Given the description of an element on the screen output the (x, y) to click on. 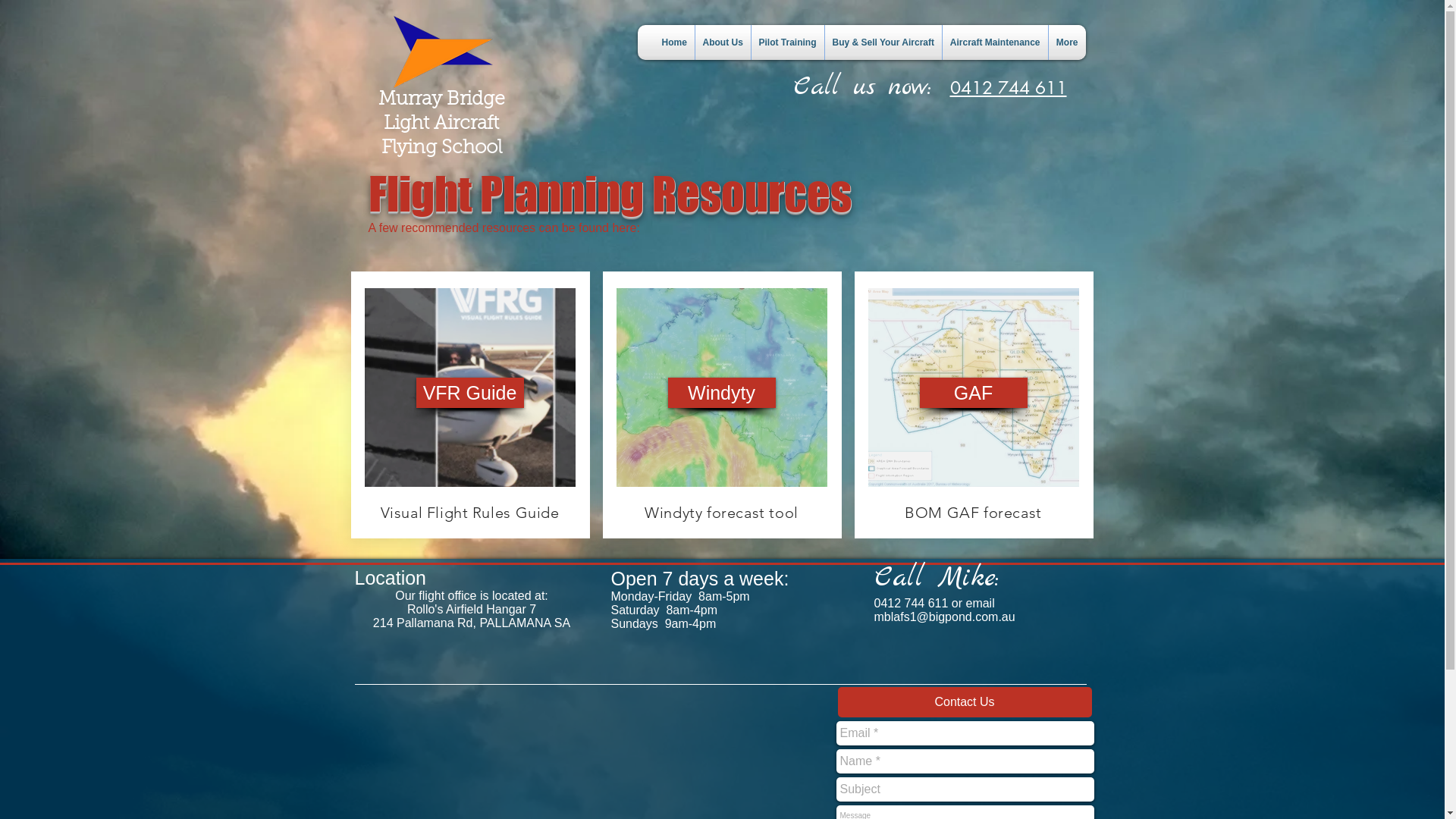
mblafs1@bigpond.com.au Element type: text (943, 616)
VFR Guide Element type: text (469, 392)
Windyty Element type: text (721, 392)
Aircraft Maintenance Element type: text (994, 42)
About Us Element type: text (721, 42)
GAF Element type: text (972, 392)
0412 744 611 Element type: text (1007, 87)
Pilot Training Element type: text (786, 42)
Buy & Sell Your Aircraft Element type: text (883, 42)
Home Element type: text (673, 42)
